Given the description of an element on the screen output the (x, y) to click on. 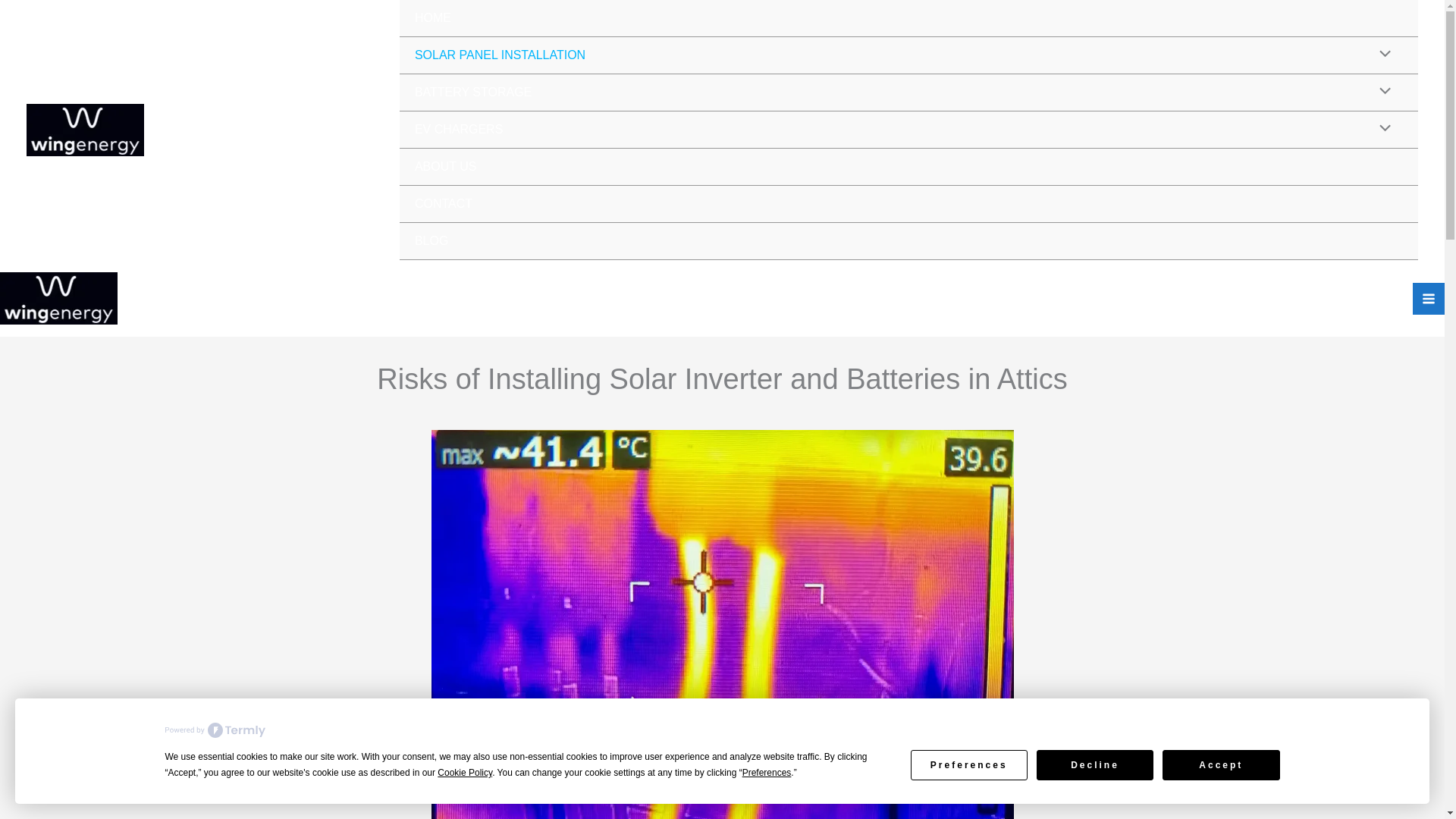
Preferences (969, 764)
Decline (1094, 764)
BATTERY STORAGE (908, 92)
CONTACT (908, 203)
Menu Toggle (1381, 55)
BLOG (908, 241)
EV CHARGERS (908, 129)
HOME (908, 18)
Menu Toggle (1381, 129)
SOLAR PANEL INSTALLATION (908, 55)
ABOUT US (908, 166)
Menu Toggle (1381, 92)
Accept (1220, 764)
